Given the description of an element on the screen output the (x, y) to click on. 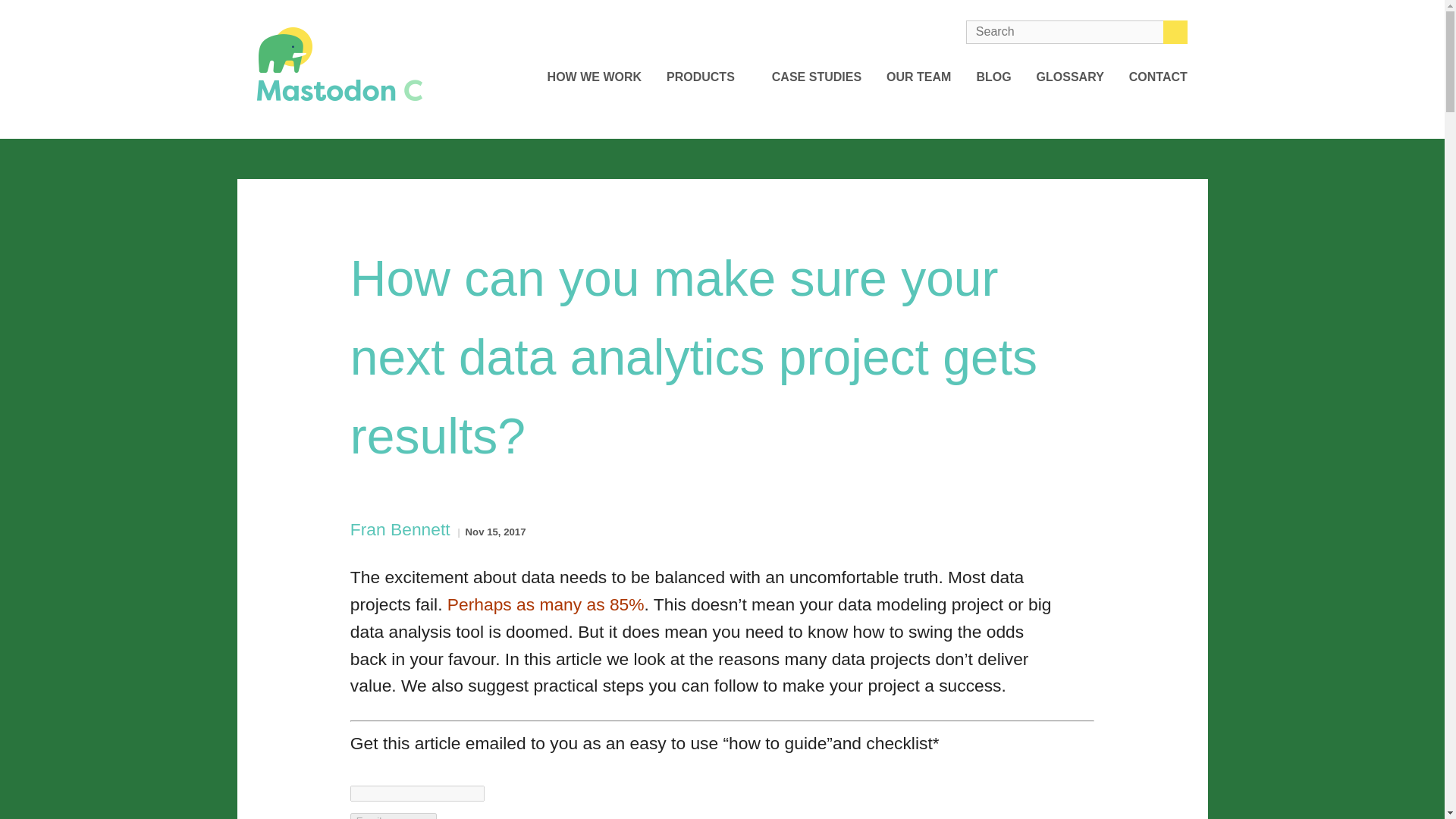
GLOSSARY (1069, 76)
CONTACT (1158, 76)
OUR TEAM (918, 76)
CASE STUDIES (816, 76)
Email me a copy (394, 816)
Search (1175, 32)
BLOG (992, 76)
PRODUCTS (706, 76)
HOW WE WORK (594, 76)
Email me a copy (394, 816)
